Given the description of an element on the screen output the (x, y) to click on. 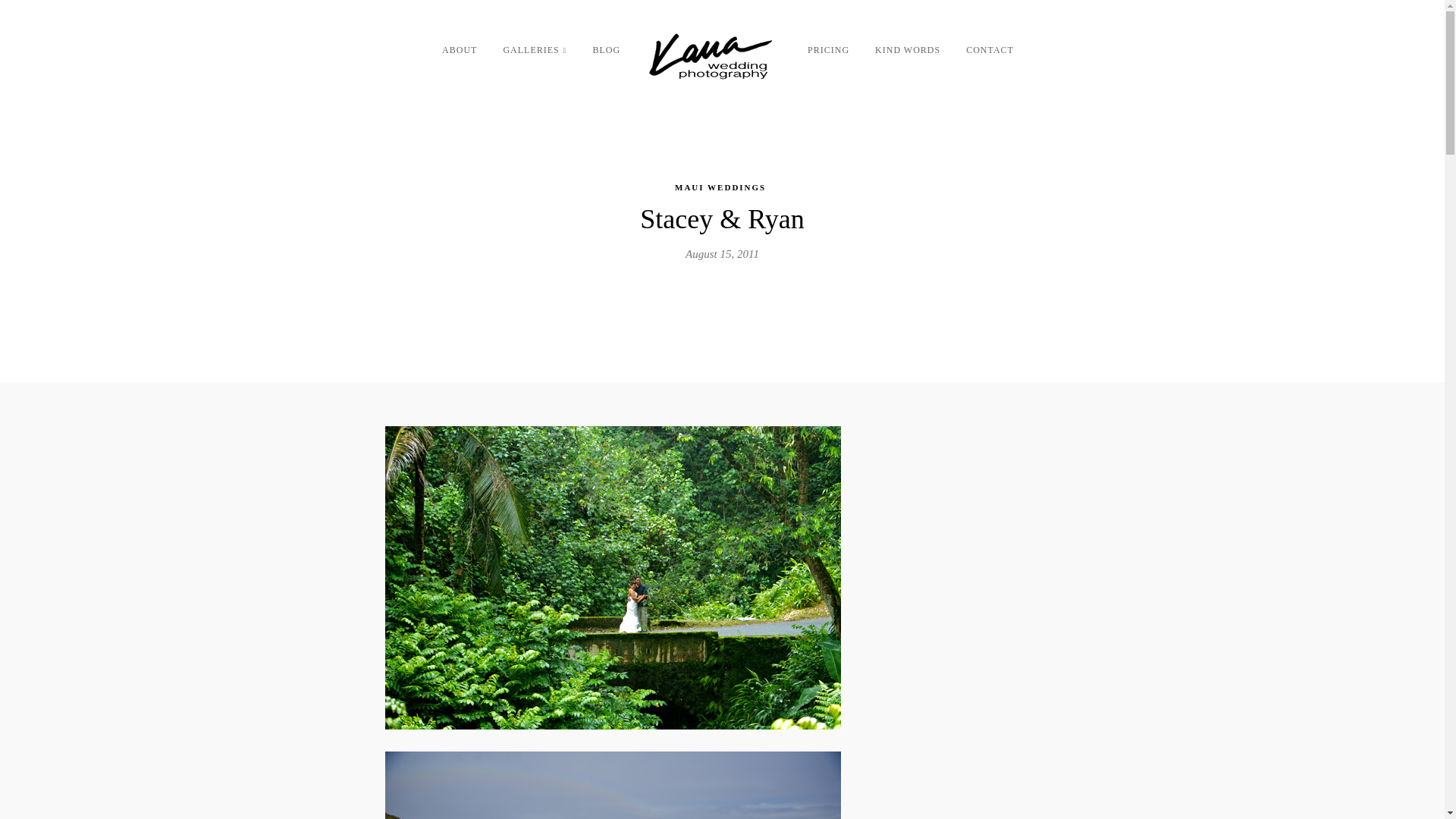
BLOG (606, 54)
PRICING (828, 54)
KIND WORDS (907, 54)
CONTACT (989, 54)
GALLERIES (534, 54)
ABOUT (459, 54)
MAUI WEDDINGS (720, 185)
